Given the description of an element on the screen output the (x, y) to click on. 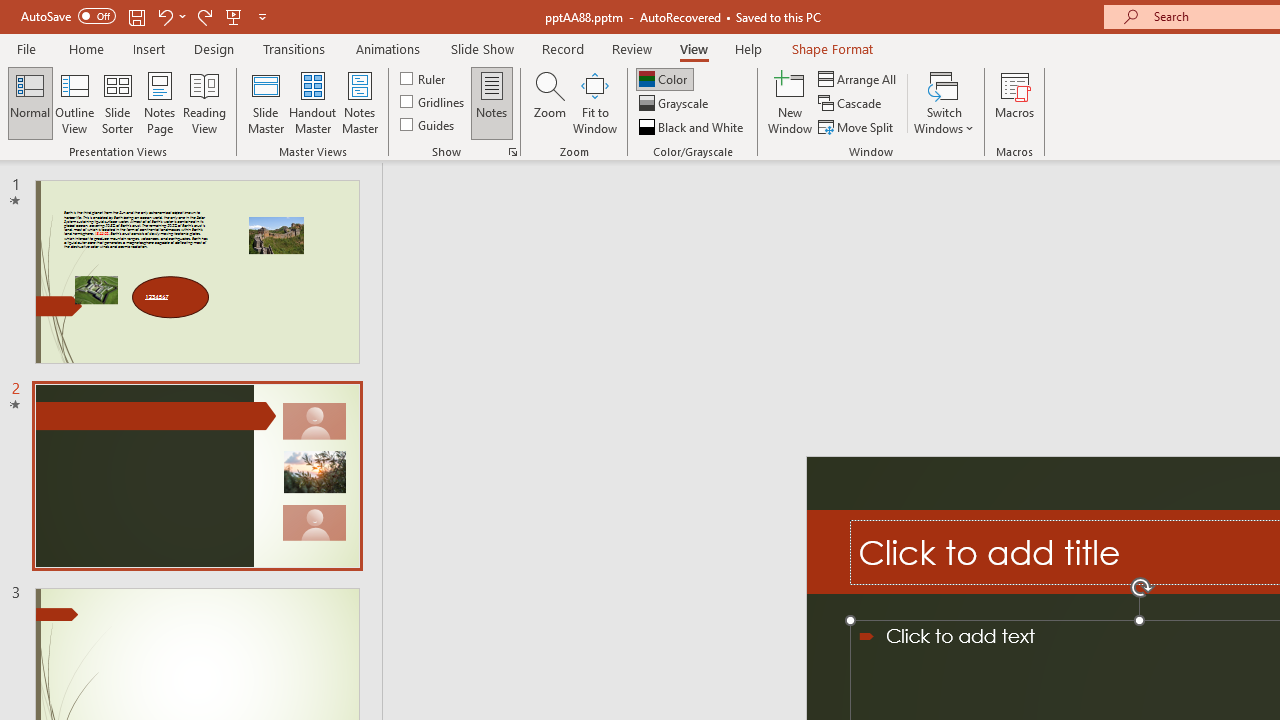
Cascade (851, 103)
Arrange All (858, 78)
Fit to Window (594, 102)
Notes (492, 102)
Switch Windows (943, 102)
Guides (428, 124)
Macros (1014, 102)
